Given the description of an element on the screen output the (x, y) to click on. 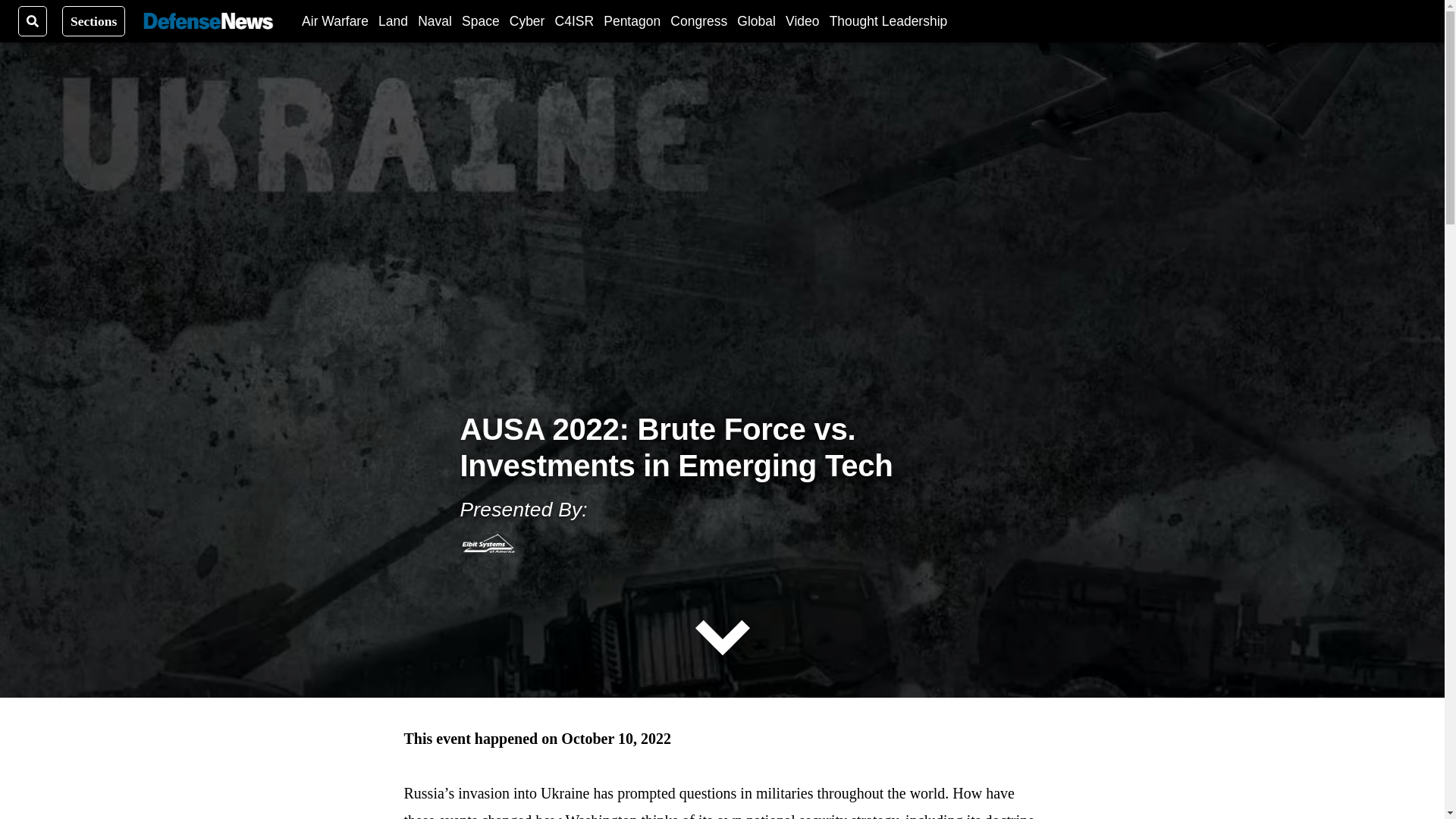
Space (480, 20)
Global (756, 20)
Defense News Logo (207, 20)
Air Warfare (334, 20)
Sections (93, 20)
Land (392, 20)
Congress (697, 20)
Thought Leadership (888, 20)
Video (802, 20)
Pentagon (632, 20)
Naval (434, 20)
